Given the description of an element on the screen output the (x, y) to click on. 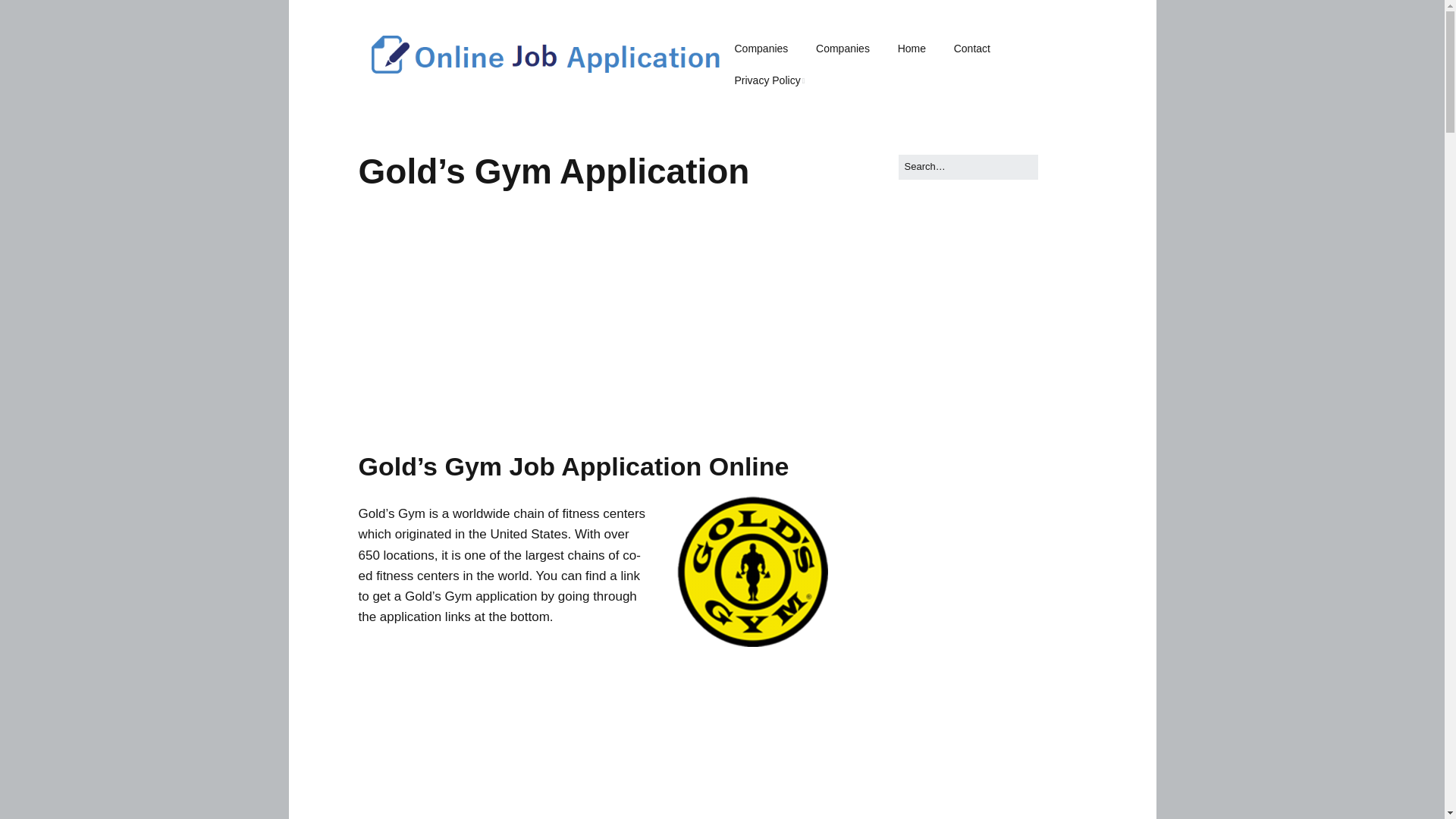
Advertisement (593, 733)
Advertisement (593, 331)
Companies (842, 49)
Contact (972, 49)
Companies (760, 49)
Privacy Policy (769, 81)
Press Enter to submit your search (968, 166)
Home (911, 49)
